Given the description of an element on the screen output the (x, y) to click on. 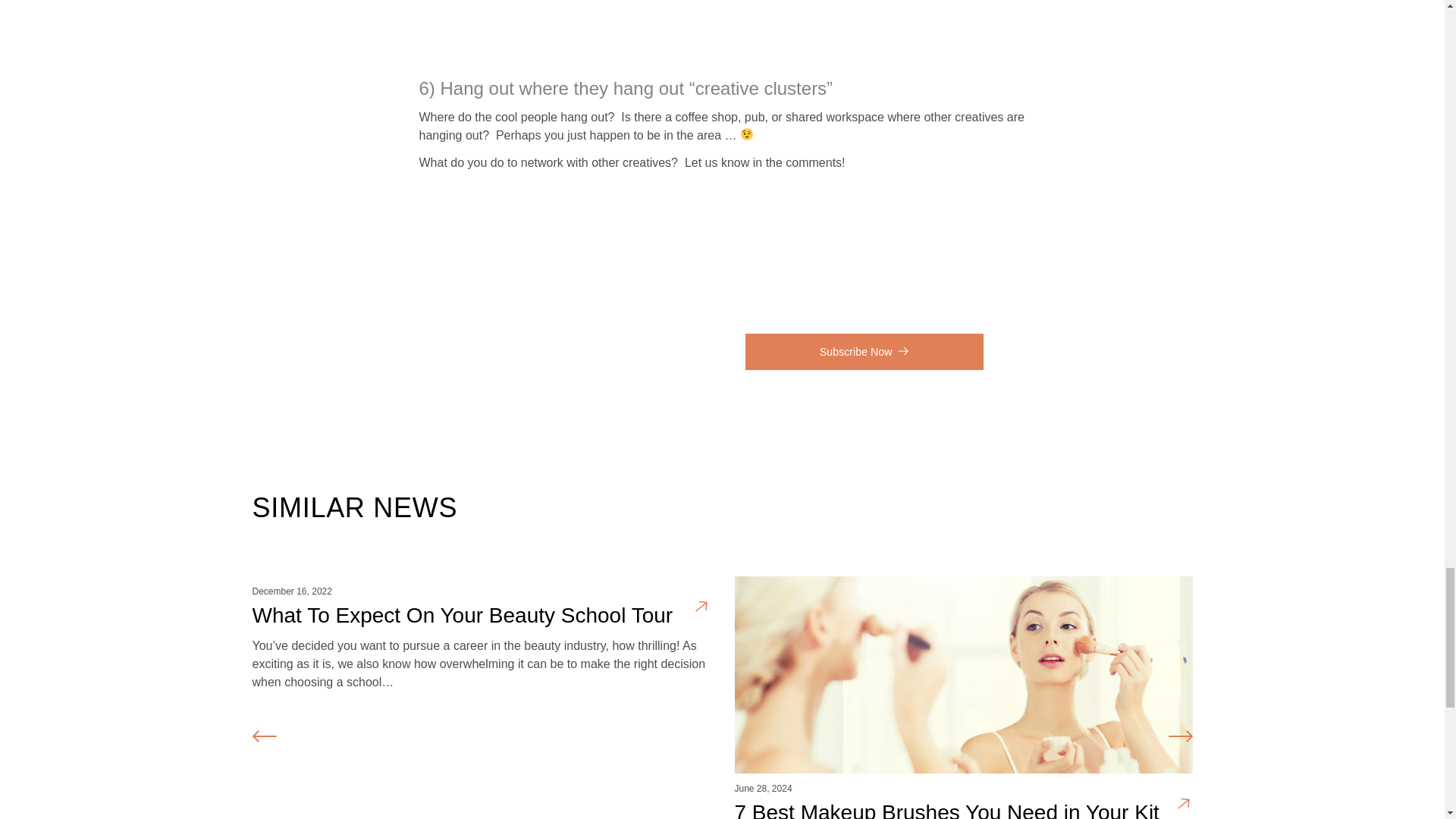
Subscribe Now (864, 351)
